Given the description of an element on the screen output the (x, y) to click on. 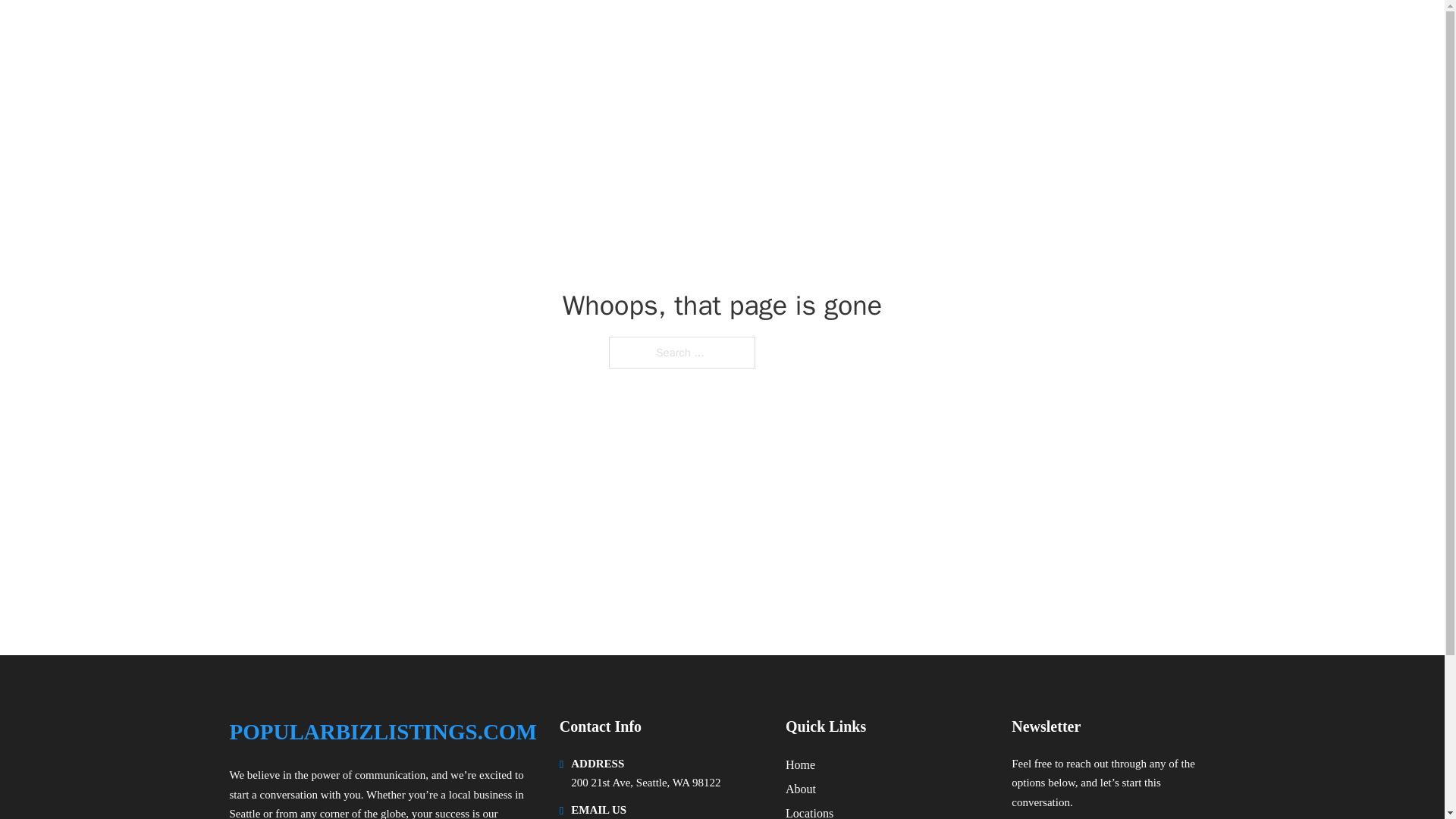
HOME (1025, 31)
About (800, 788)
Locations (809, 811)
POPULARBIZLISTINGS.COM (397, 31)
LOCATIONS (1098, 31)
POPULARBIZLISTINGS.COM (381, 732)
Home (800, 764)
